Given the description of an element on the screen output the (x, y) to click on. 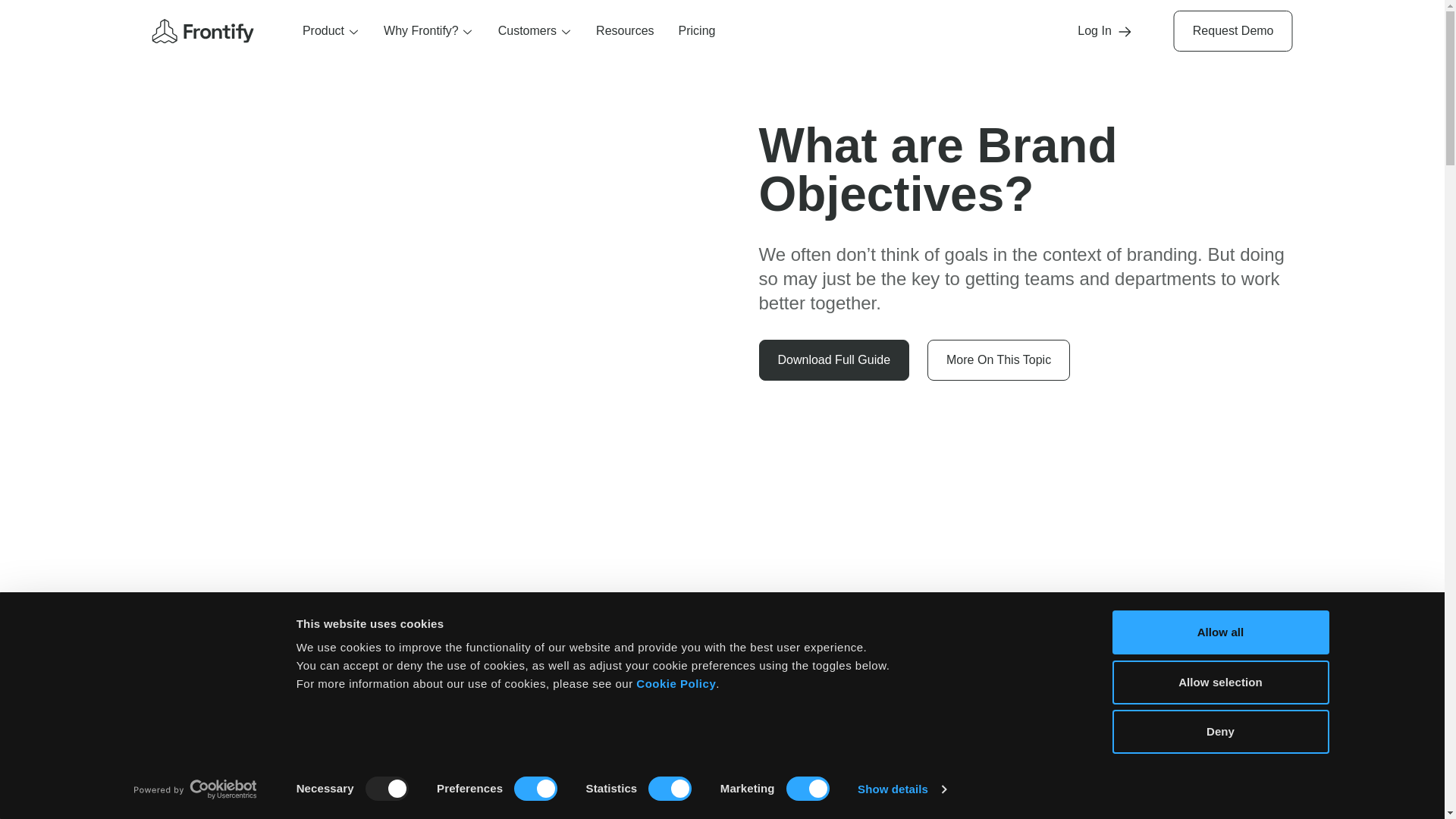
Show details (900, 789)
Cookie Policy (676, 683)
